Given the description of an element on the screen output the (x, y) to click on. 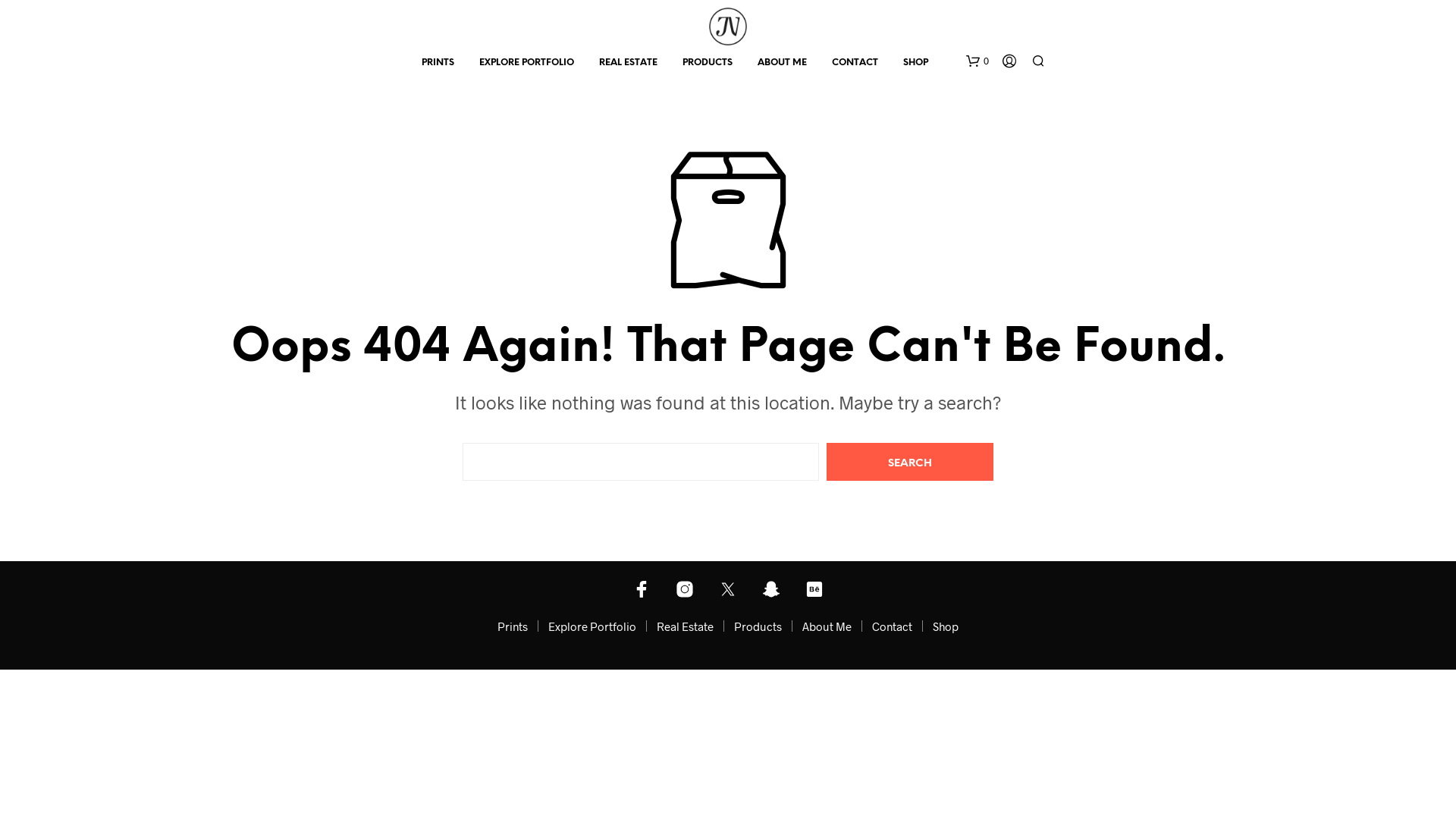
0 Element type: text (977, 61)
CONTACT Element type: text (854, 62)
EXPLORE PORTFOLIO Element type: text (525, 62)
About Me Element type: text (826, 626)
Shop Element type: text (945, 626)
Explore Portfolio Element type: text (592, 626)
Contact Element type: text (892, 626)
ABOUT ME Element type: text (782, 62)
SHOP Element type: text (915, 62)
REAL ESTATE Element type: text (627, 62)
PRINTS Element type: text (436, 62)
Prints Element type: text (512, 626)
Products Element type: text (757, 626)
Search Element type: text (909, 461)
Real Estate Element type: text (684, 626)
PRODUCTS Element type: text (706, 62)
